Given the description of an element on the screen output the (x, y) to click on. 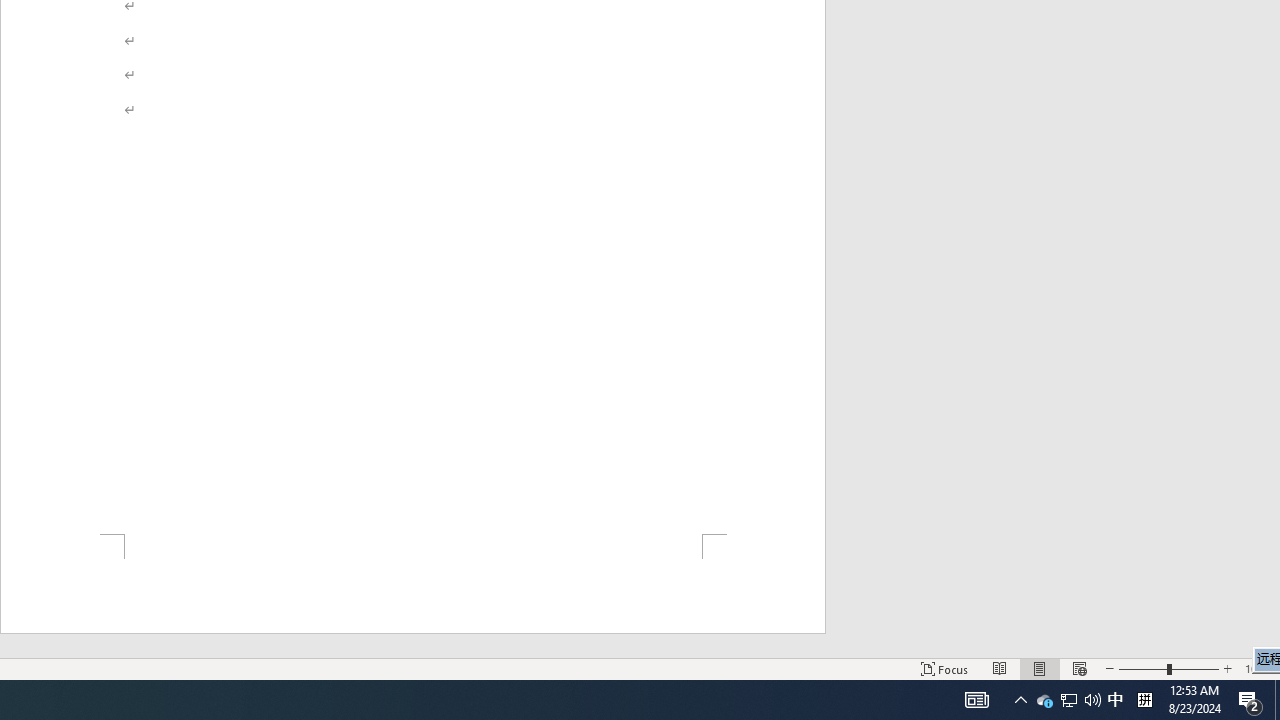
Read Mode (1000, 668)
Print Layout (1039, 668)
Zoom In (1227, 668)
Zoom (1168, 668)
Zoom Out (1142, 668)
Focus  (944, 668)
Web Layout (1079, 668)
Zoom 104% (1258, 668)
